Given the description of an element on the screen output the (x, y) to click on. 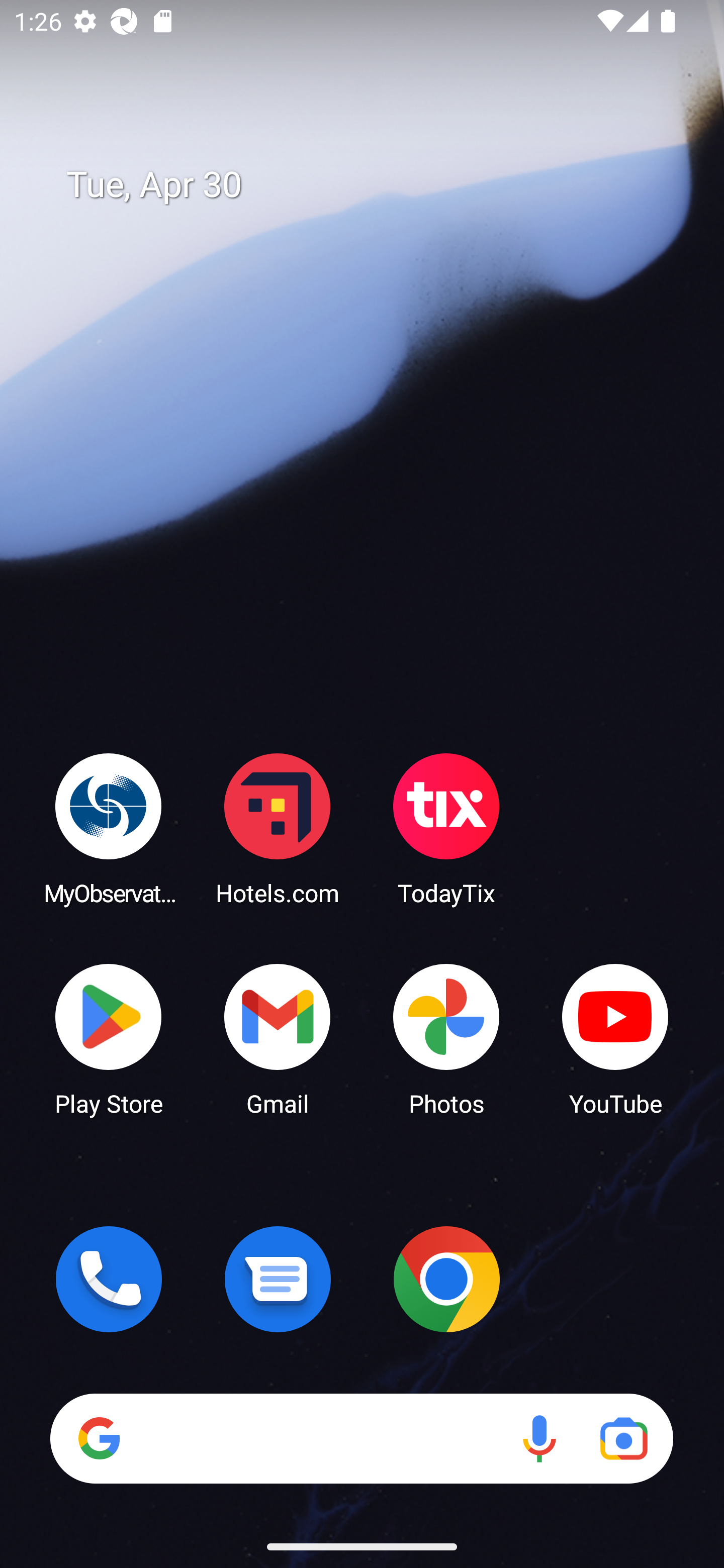
Tue, Apr 30 (375, 184)
MyObservatory (108, 828)
Hotels.com (277, 828)
TodayTix (445, 828)
Play Store (108, 1038)
Gmail (277, 1038)
Photos (445, 1038)
YouTube (615, 1038)
Phone (108, 1279)
Messages (277, 1279)
Chrome (446, 1279)
Voice search (539, 1438)
Google Lens (623, 1438)
